Given the description of an element on the screen output the (x, y) to click on. 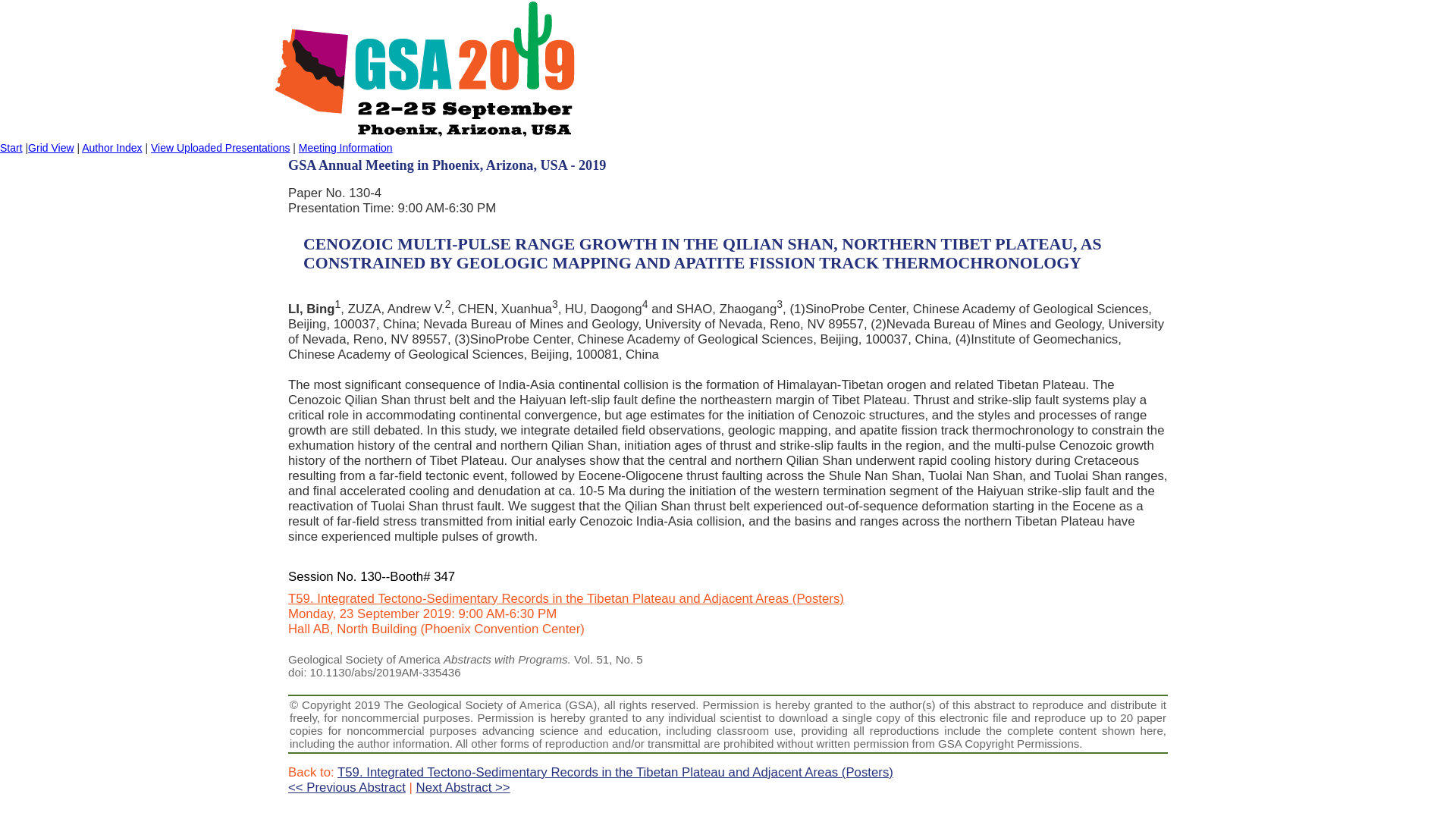
View Uploaded Presentations (220, 147)
Author Index (111, 147)
Start (11, 147)
Meeting Information (345, 147)
Grid View (50, 147)
